Given the description of an element on the screen output the (x, y) to click on. 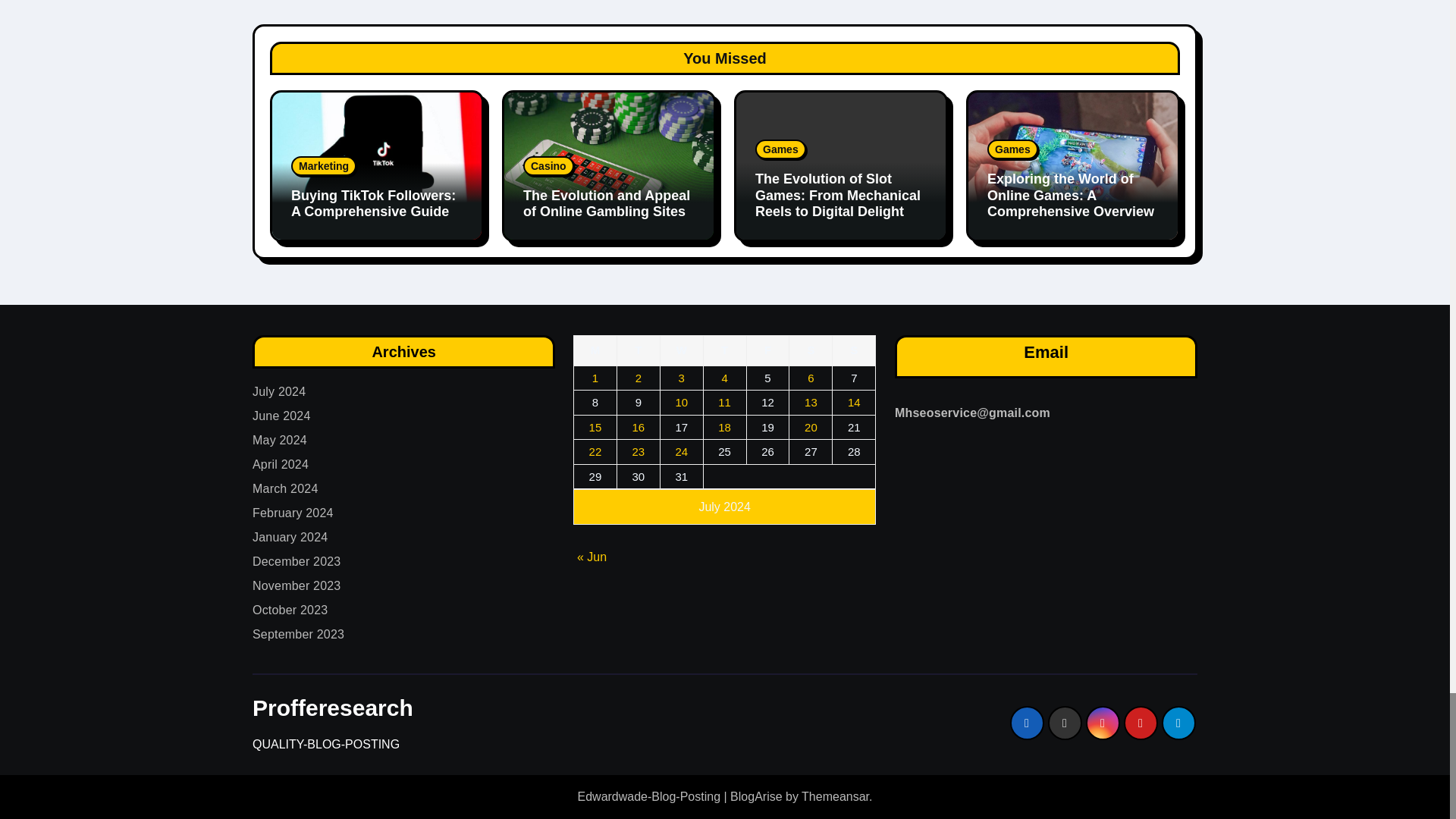
Permalink to: Buying TikTok Followers: A Comprehensive Guide (373, 204)
